Given the description of an element on the screen output the (x, y) to click on. 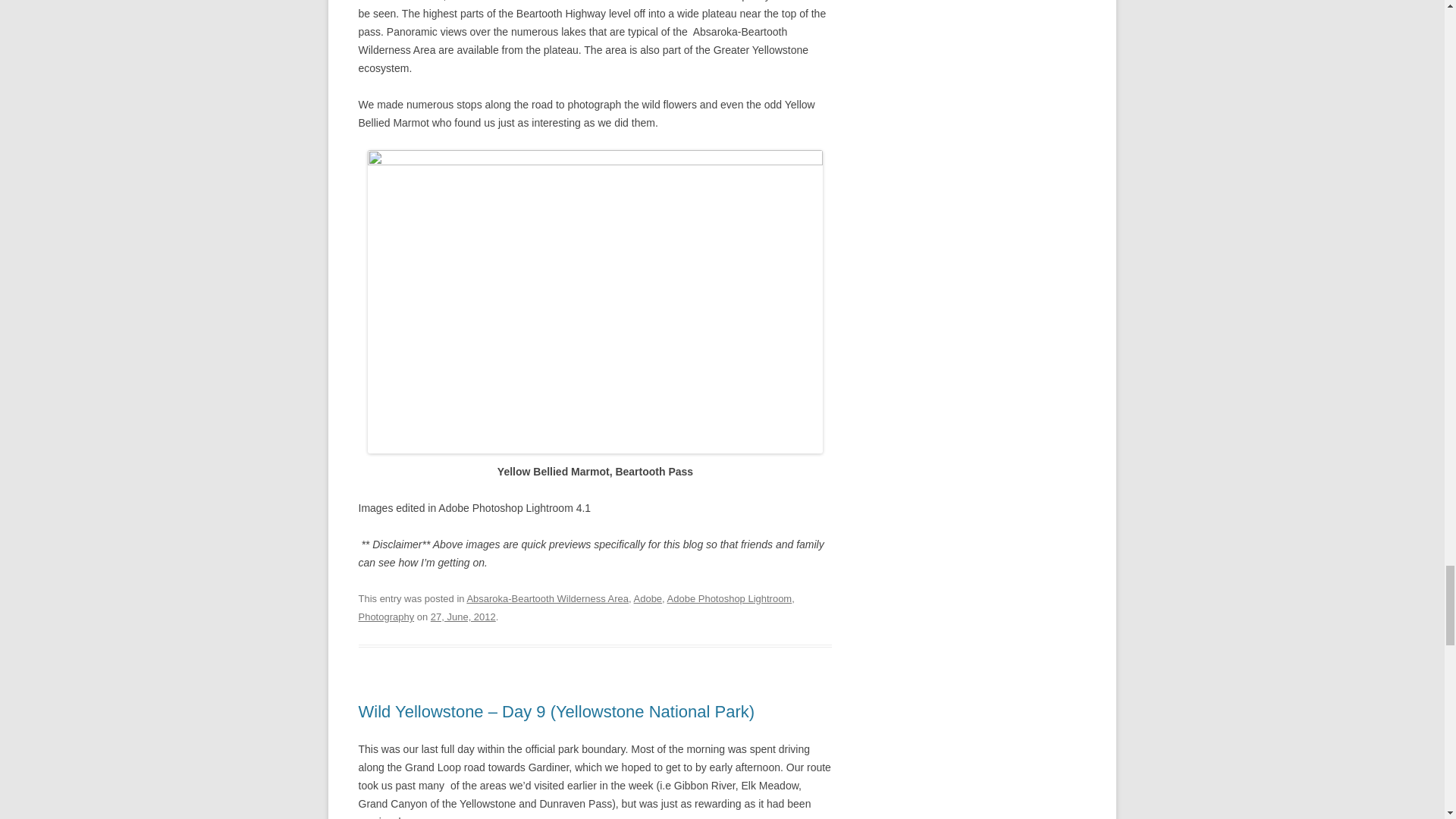
27, June, 2012 (463, 616)
Adobe Photoshop Lightroom (729, 598)
Adobe (647, 598)
Absaroka-Beartooth Wilderness Area (546, 598)
Photography (385, 616)
